Given the description of an element on the screen output the (x, y) to click on. 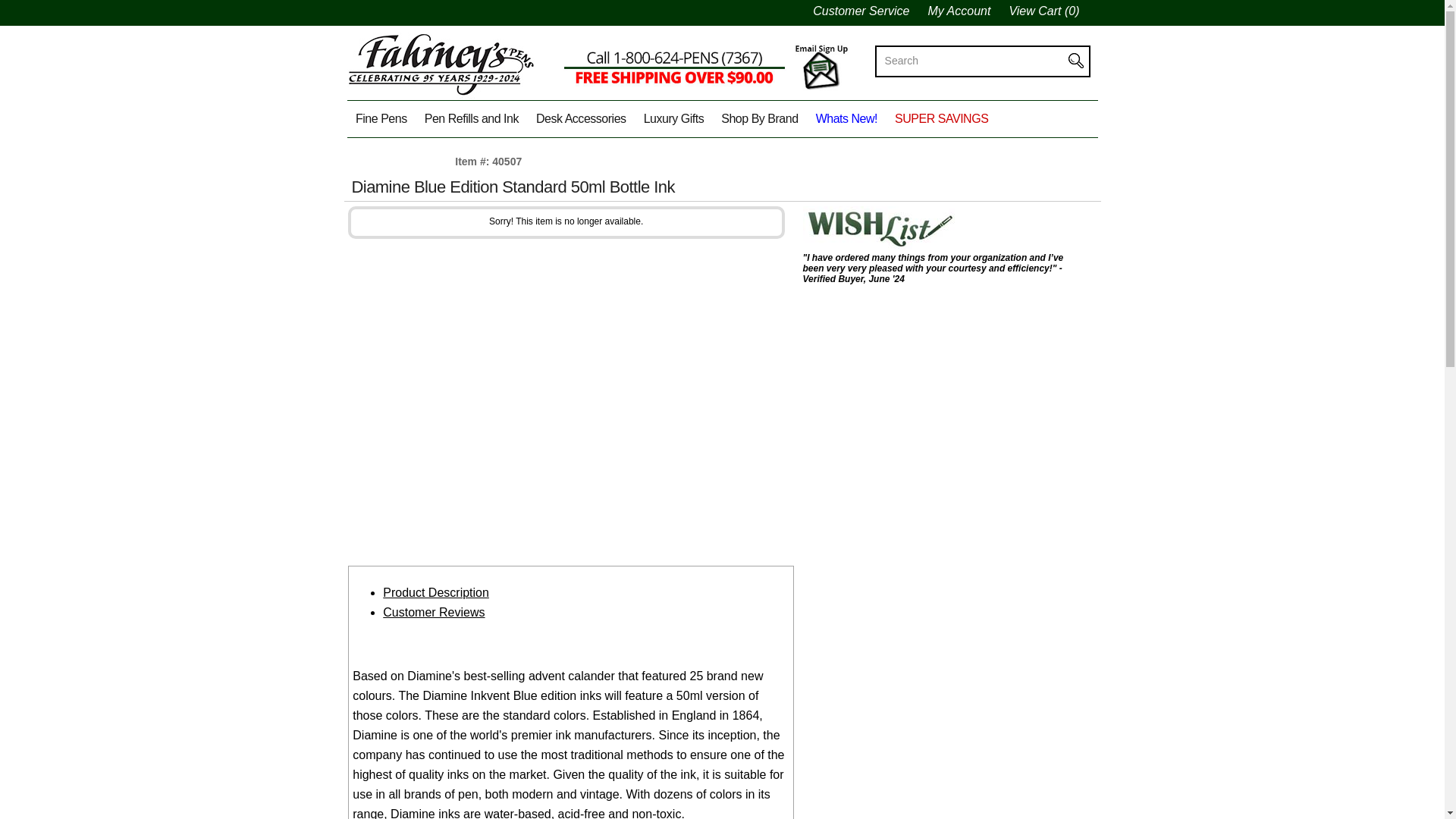
Fine Pens (381, 118)
Customer Service (869, 10)
Fahrney's Pens (441, 99)
My Account (968, 10)
Pen Refills and Ink (470, 118)
Desk Accessories (580, 118)
Search (973, 60)
